Given the description of an element on the screen output the (x, y) to click on. 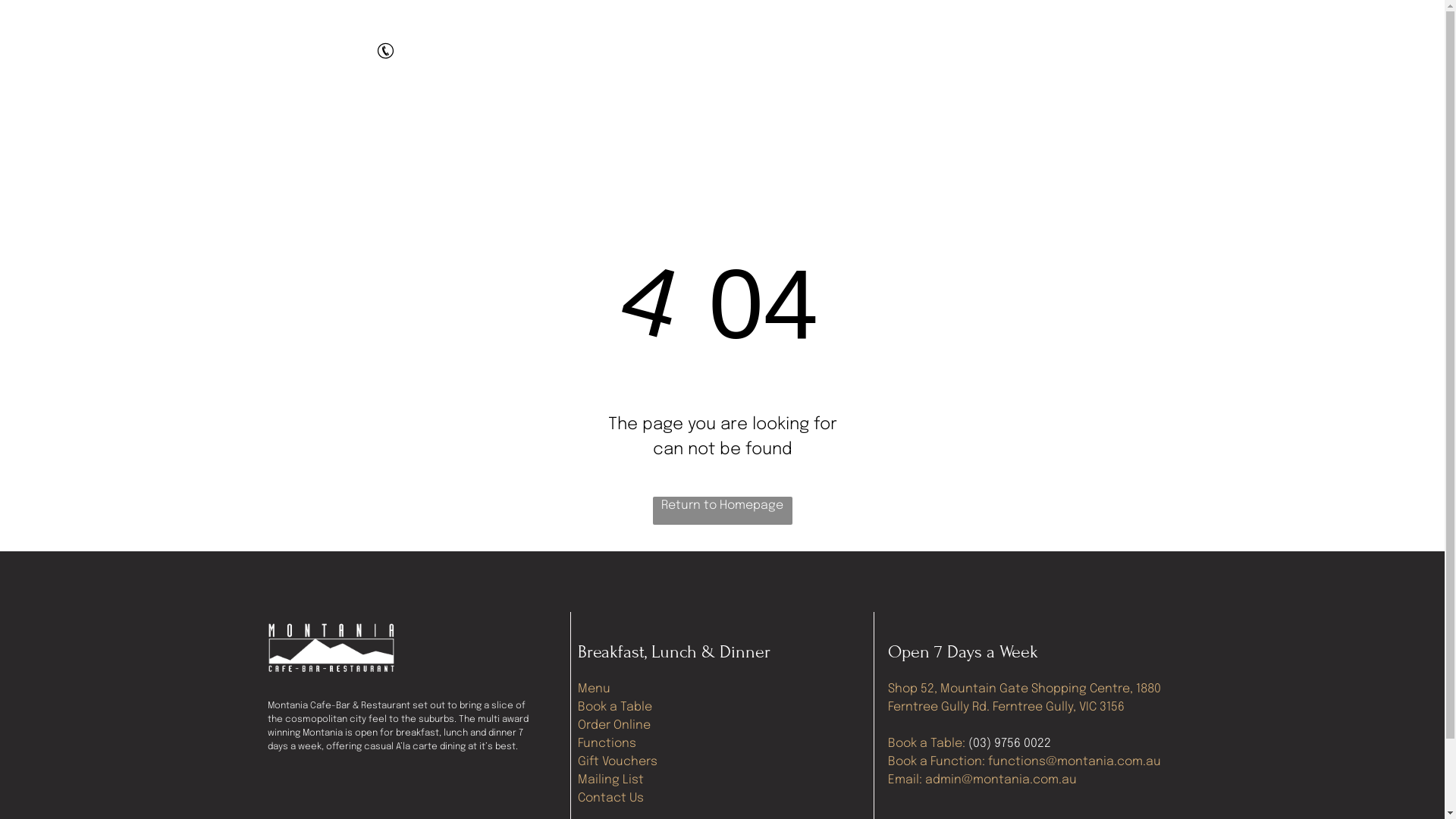
(03) 9756 0022 Element type: text (1009, 743)
Order Online Element type: text (613, 724)
LOCATION + HOURS Element type: text (1021, 111)
Return to Homepage Element type: text (721, 510)
functions@montania.com.au Element type: text (1074, 761)
admin@montania.com.au Element type: text (1000, 779)
Functions Element type: text (606, 743)
BOOK A TABLE Element type: text (572, 111)
FUNCTIONS Element type: text (468, 111)
ORDER ONLINE Element type: text (685, 111)
Gift Vouchers Element type: text (617, 761)
Contact Us Element type: text (610, 797)
Book a Table: Element type: text (926, 743)
GIFT VOUCHERS Element type: text (800, 111)
Mailing List Element type: text (610, 779)
MENU Element type: text (387, 111)
WHAT'S ON Element type: text (906, 111)
Book a Table Element type: text (614, 706)
Menu Element type: text (593, 688)
